Given the description of an element on the screen output the (x, y) to click on. 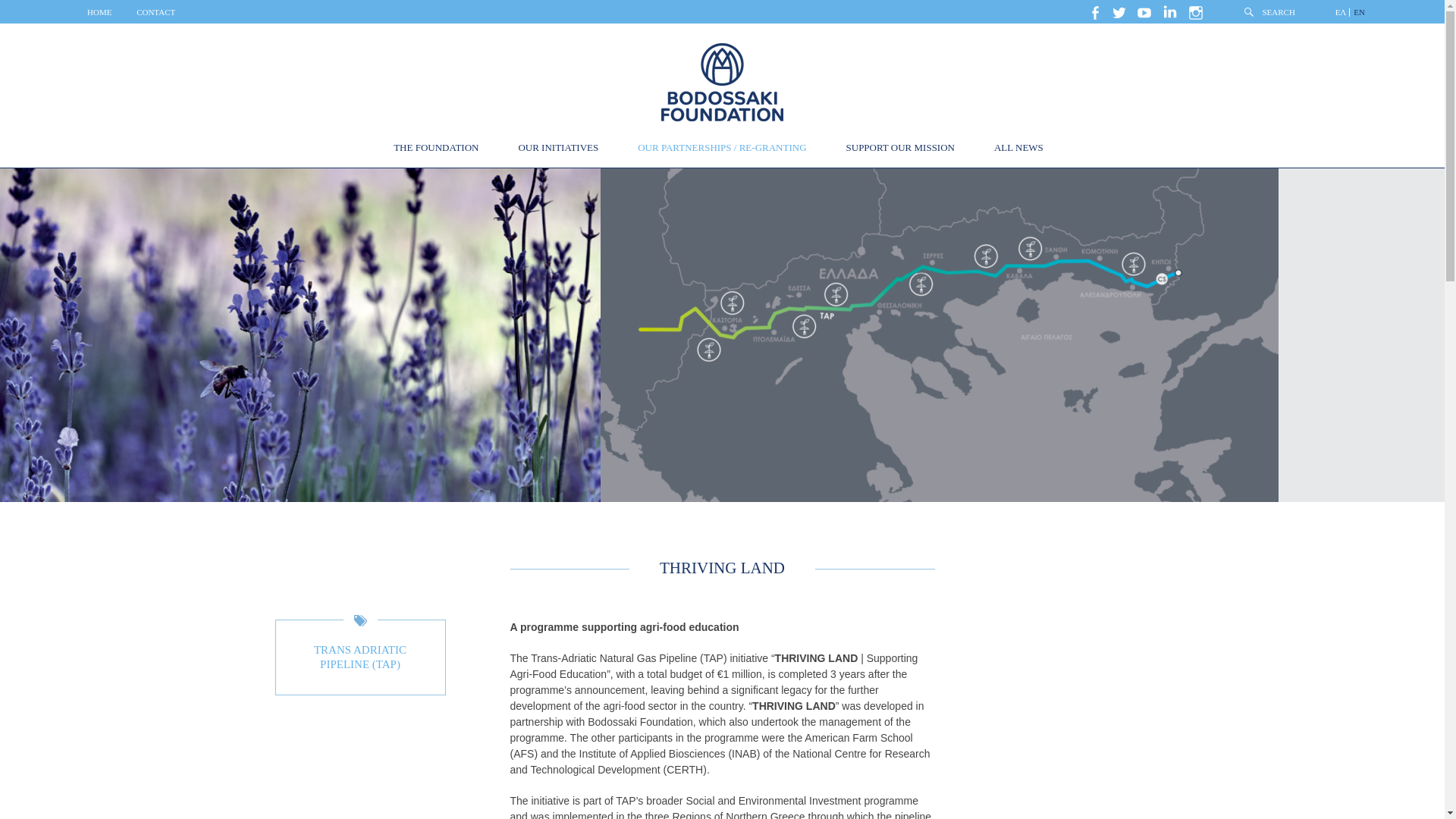
BODOSSAKI FOUNDATION (722, 82)
EN (1358, 12)
OUR INITIATIVES (561, 150)
THE FOUNDATION (439, 150)
